Given the description of an element on the screen output the (x, y) to click on. 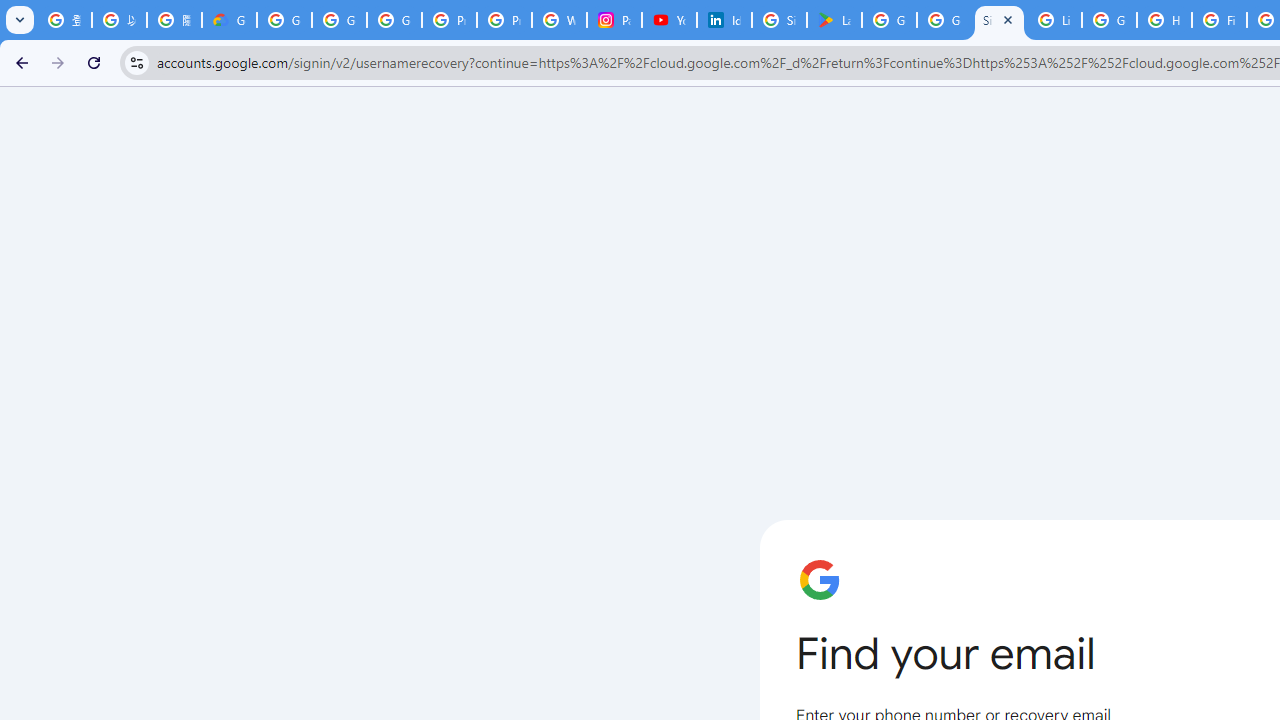
How do I create a new Google Account? - Google Account Help (1163, 20)
Google Workspace - Specific Terms (943, 20)
Sign in - Google Accounts (779, 20)
YouTube Culture & Trends - On The Rise: Handcam Videos (669, 20)
